Given the description of an element on the screen output the (x, y) to click on. 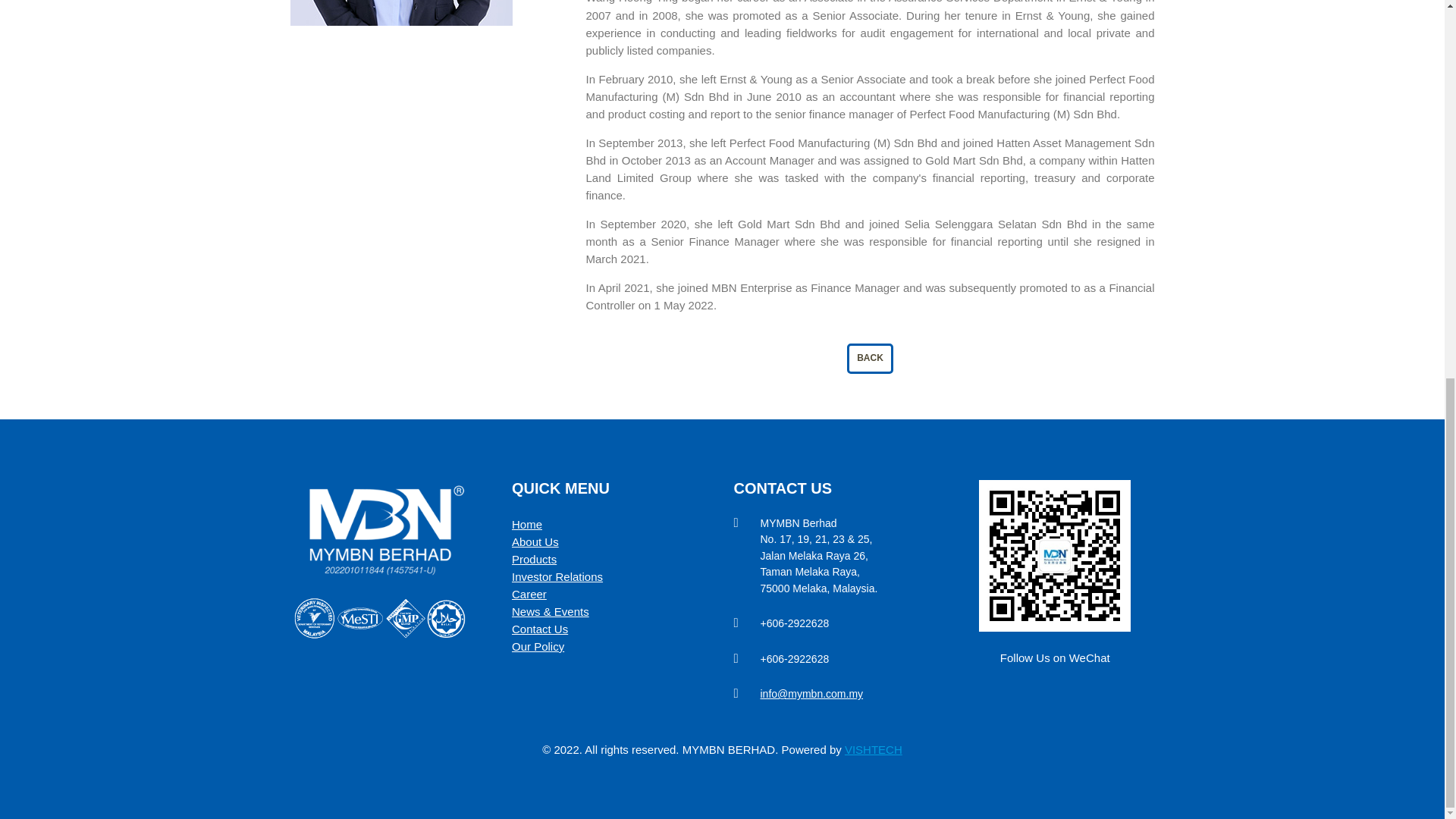
Career (529, 594)
Products (534, 558)
Home (526, 523)
Products (534, 558)
Our Policy (538, 645)
Contact Us (539, 628)
BACK (870, 356)
Investor Relations (557, 576)
Contact Us (539, 628)
Home (526, 523)
